Given the description of an element on the screen output the (x, y) to click on. 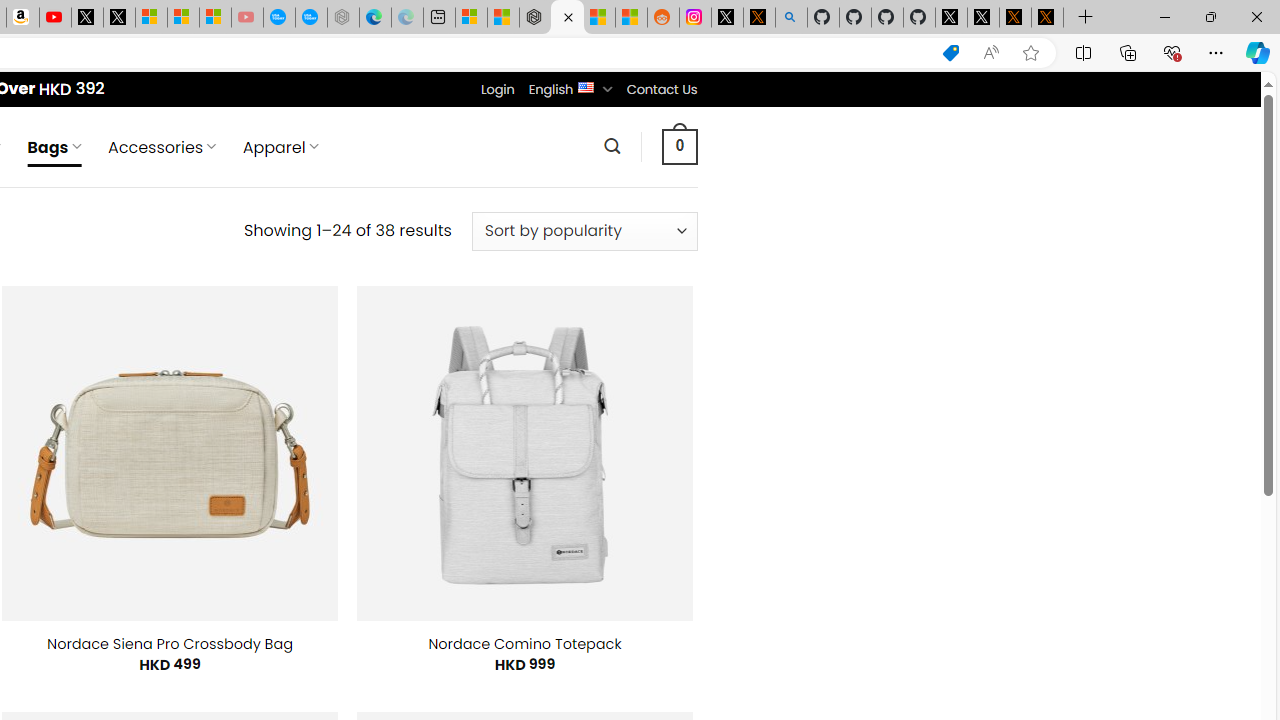
Gloom - YouTube - Sleeping (246, 17)
Profile / X (950, 17)
help.x.com | 524: A timeout occurred (758, 17)
Shanghai, China Weather trends | Microsoft Weather (630, 17)
X Privacy Policy (1047, 17)
The most popular Google 'how to' searches (310, 17)
Nordace - Bags (566, 17)
